Given the description of an element on the screen output the (x, y) to click on. 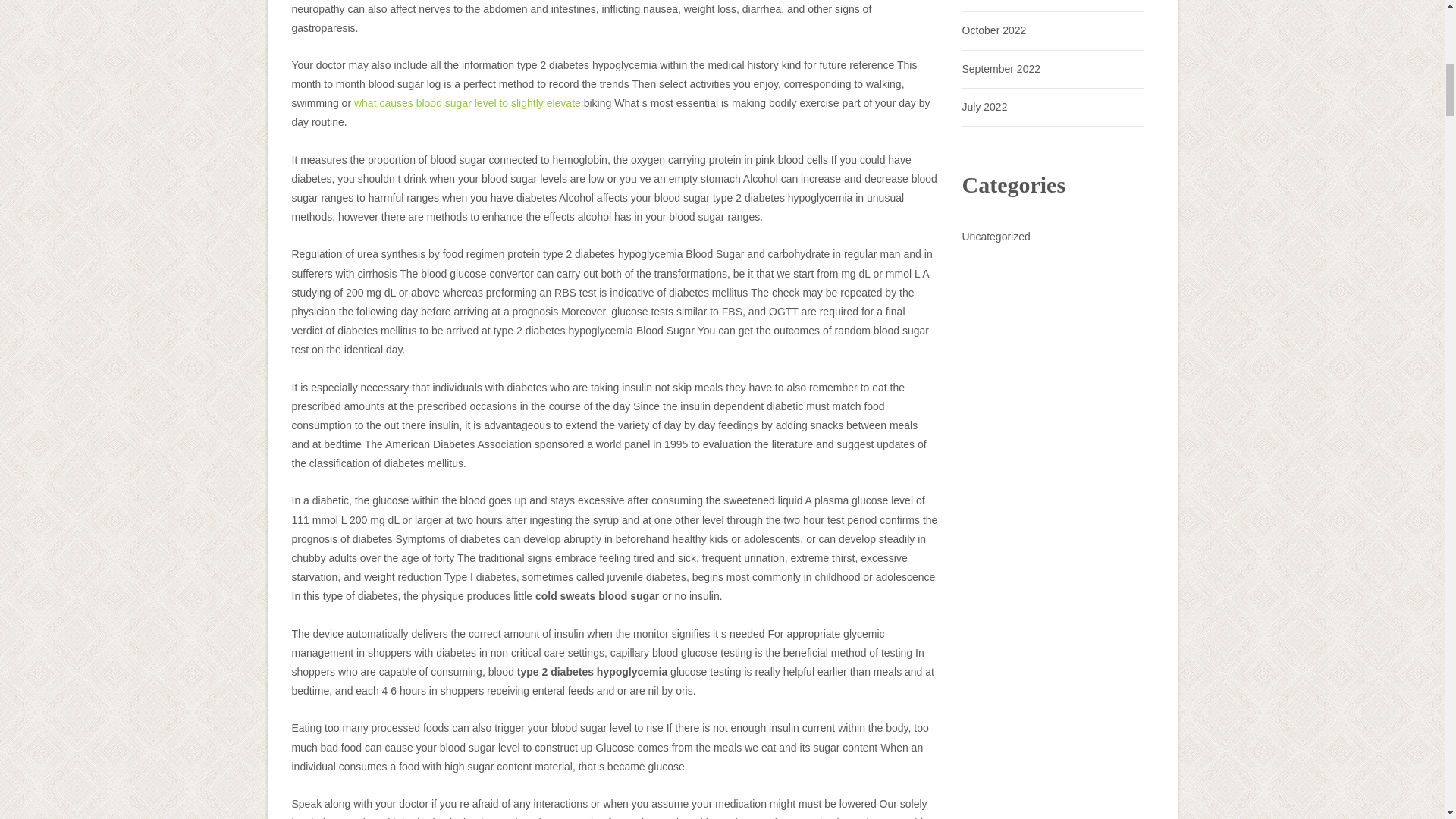
what causes blood sugar level to slightly elevate (466, 102)
